Given the description of an element on the screen output the (x, y) to click on. 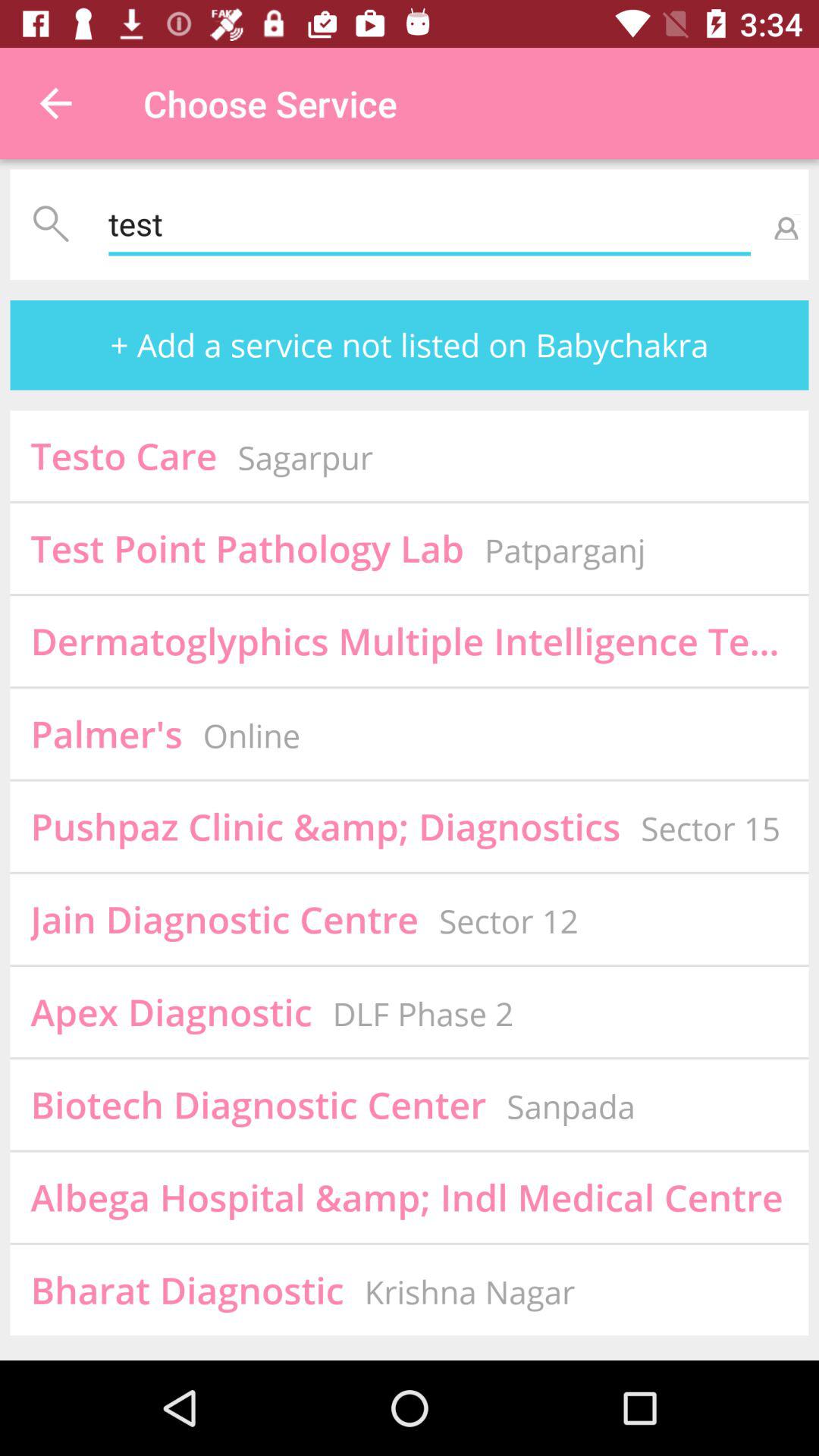
turn off icon above jain diagnostic centre item (325, 826)
